Given the description of an element on the screen output the (x, y) to click on. 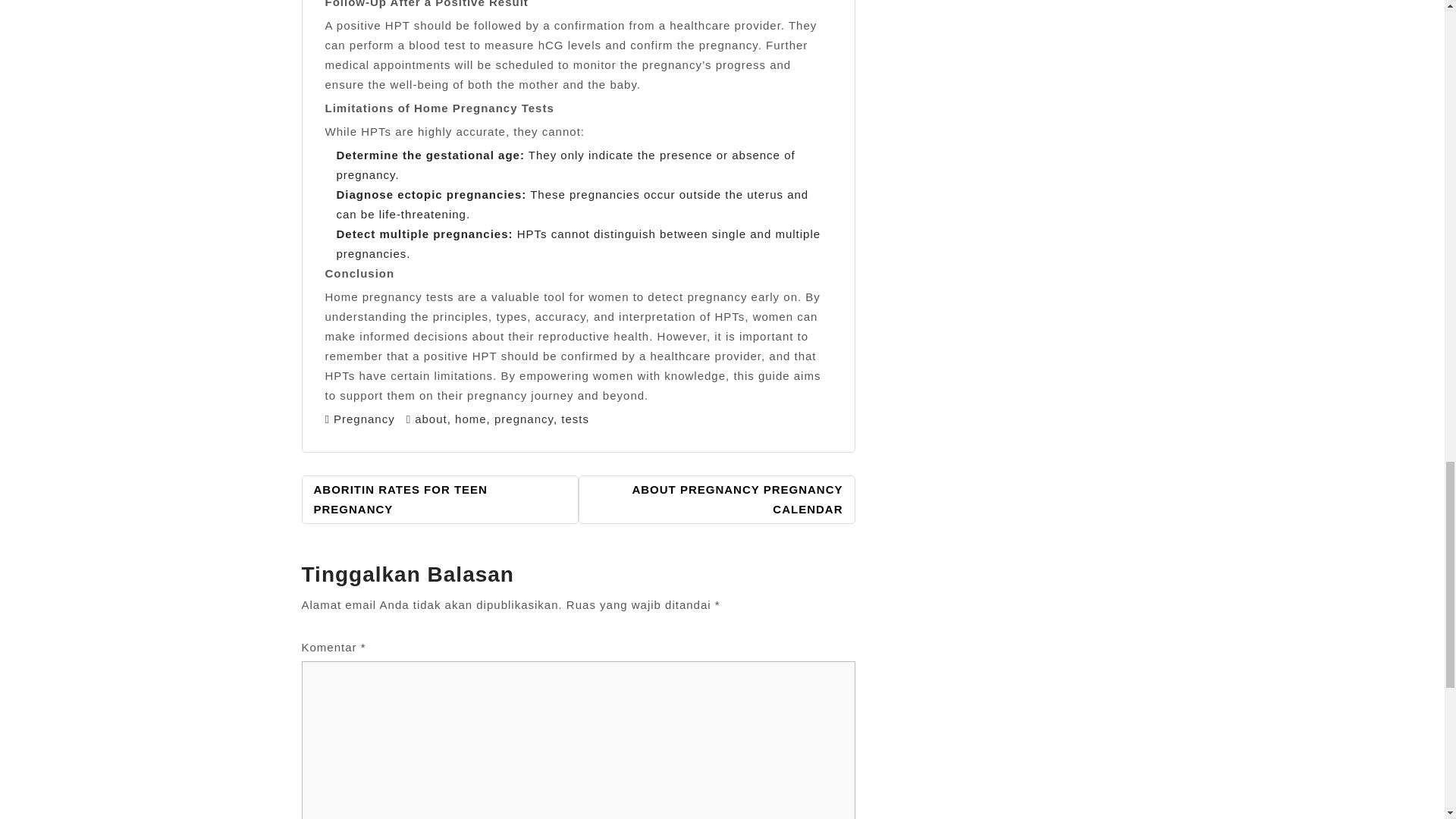
home (470, 418)
pregnancy (524, 418)
Pregnancy (363, 418)
about (430, 418)
tests (574, 418)
ABOUT PREGNANCY PREGNANCY CALENDAR (716, 499)
ABORITIN RATES FOR TEEN PREGNANCY (439, 499)
